Given the description of an element on the screen output the (x, y) to click on. 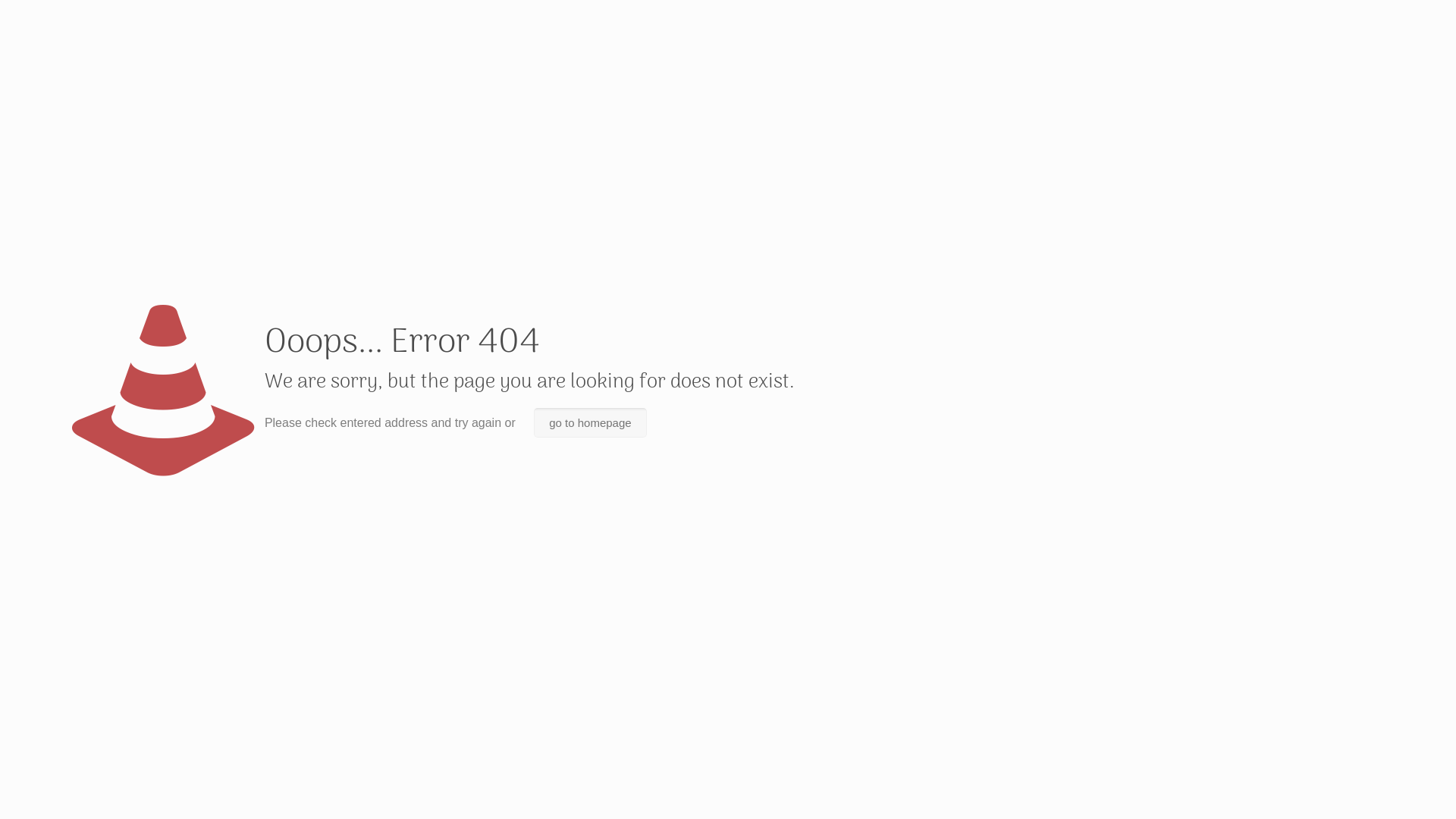
go to homepage Element type: text (589, 422)
